Given the description of an element on the screen output the (x, y) to click on. 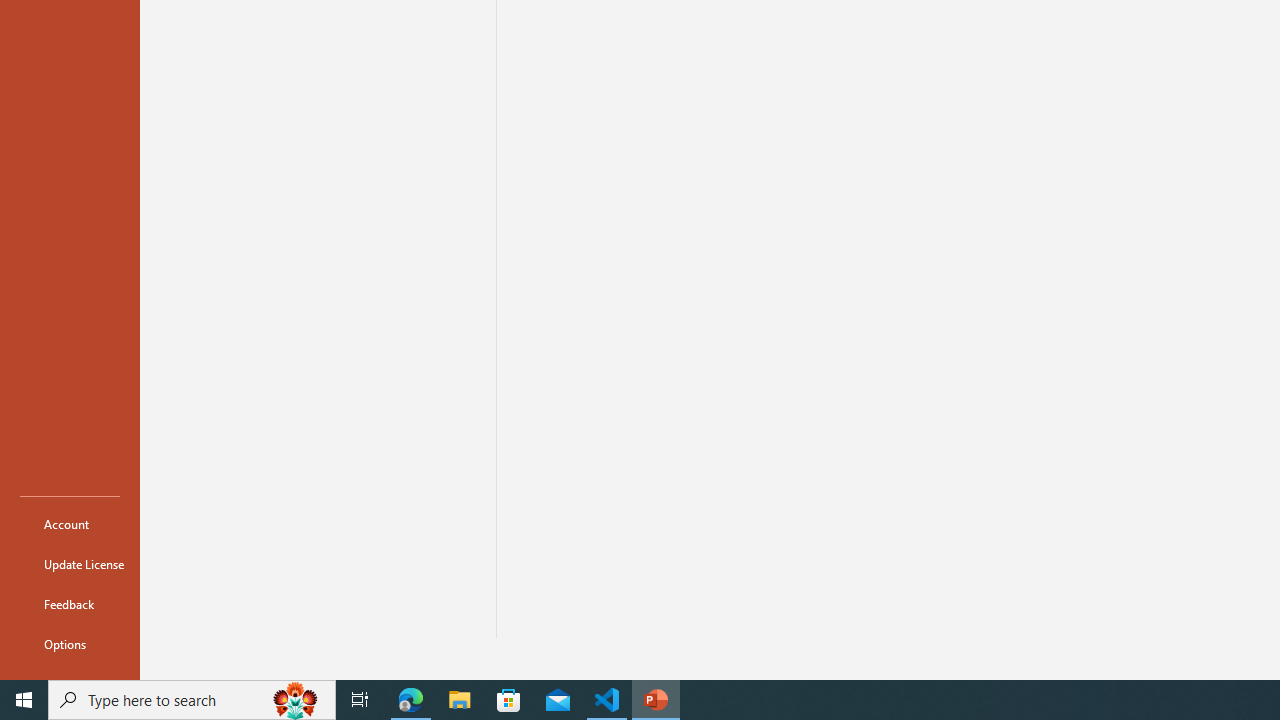
Feedback (69, 603)
Options (69, 643)
Account (69, 523)
Update License (69, 563)
